Given the description of an element on the screen output the (x, y) to click on. 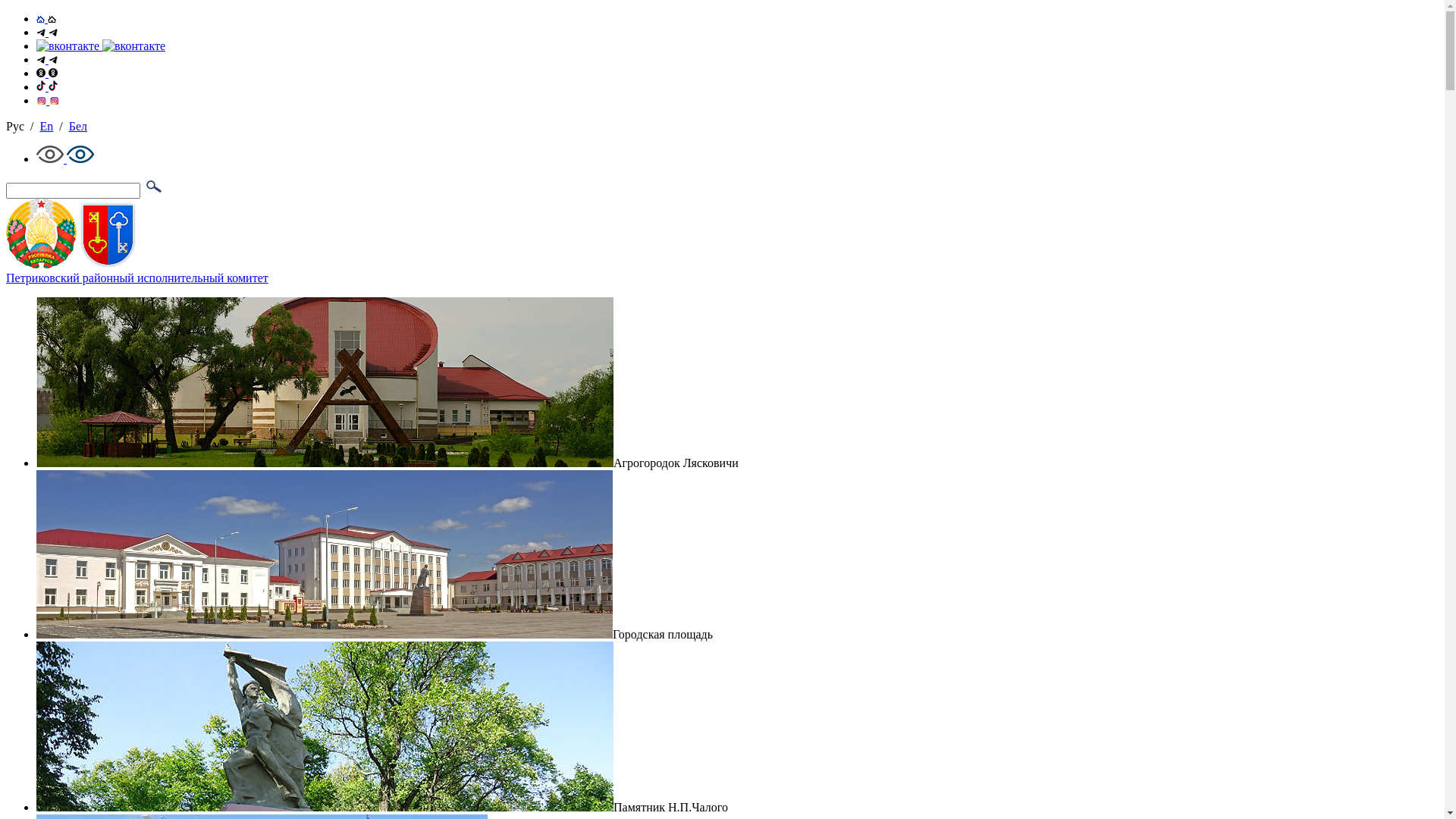
OK Element type: hover (46, 72)
Instagram Element type: hover (47, 100)
En Element type: text (46, 125)
Telegram Element type: hover (46, 59)
